Given the description of an element on the screen output the (x, y) to click on. 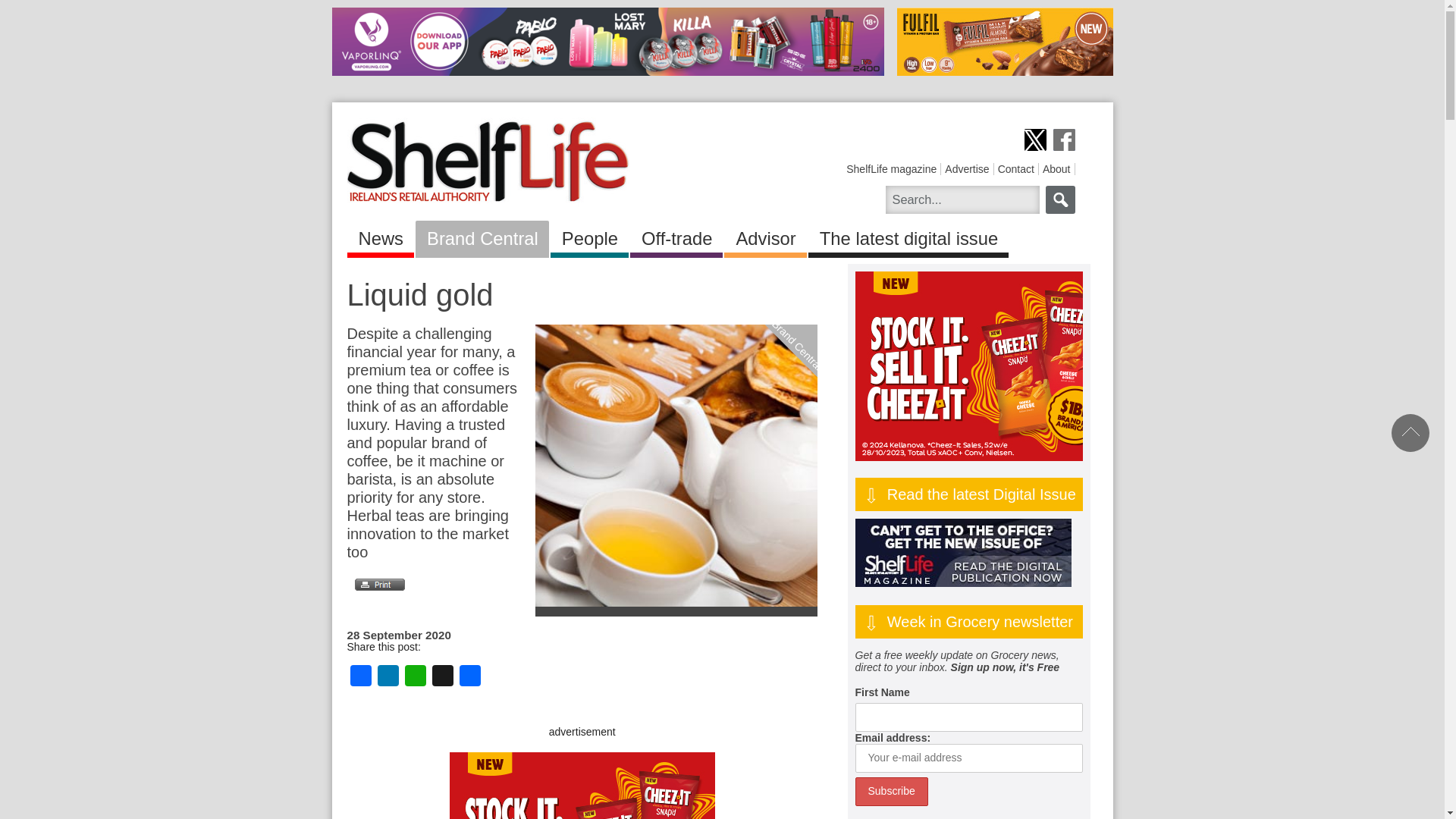
ShelfLife magazine (890, 168)
Brand Central (813, 282)
WhatsApp (415, 676)
Subscribe (892, 791)
Advisor (764, 236)
Share (470, 676)
The latest digital issue (908, 236)
News (380, 236)
Advertise (966, 168)
Facebook (360, 676)
About (1056, 168)
Contact (1015, 168)
People (589, 236)
Follow on Twitter (1034, 139)
Brand Central (481, 236)
